Given the description of an element on the screen output the (x, y) to click on. 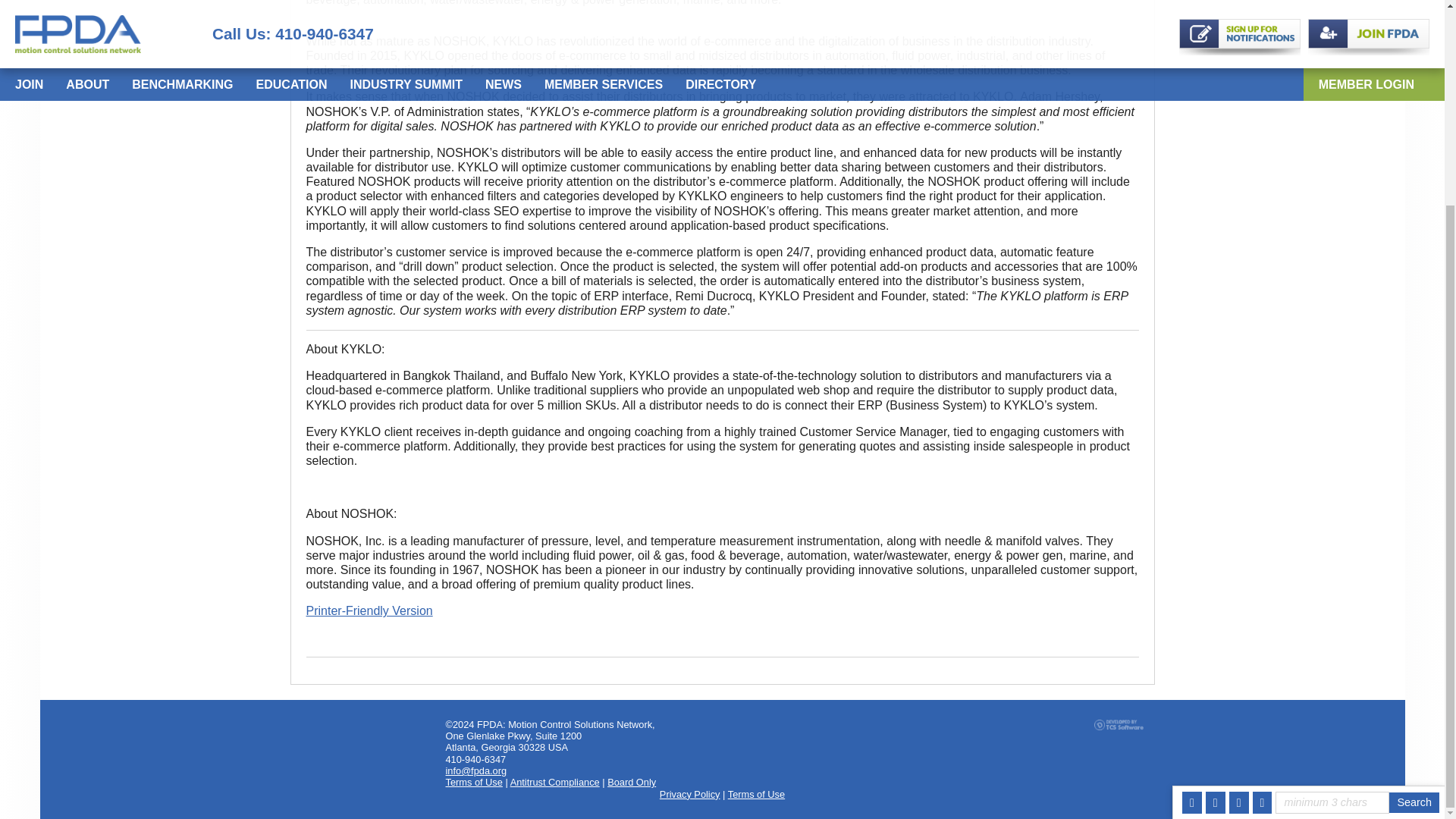
Terms of Use (473, 781)
Printer-Friendly Version (368, 610)
Board Only (631, 781)
Antitrust Compliance (555, 781)
Search (1414, 537)
Search (1414, 537)
